Given the description of an element on the screen output the (x, y) to click on. 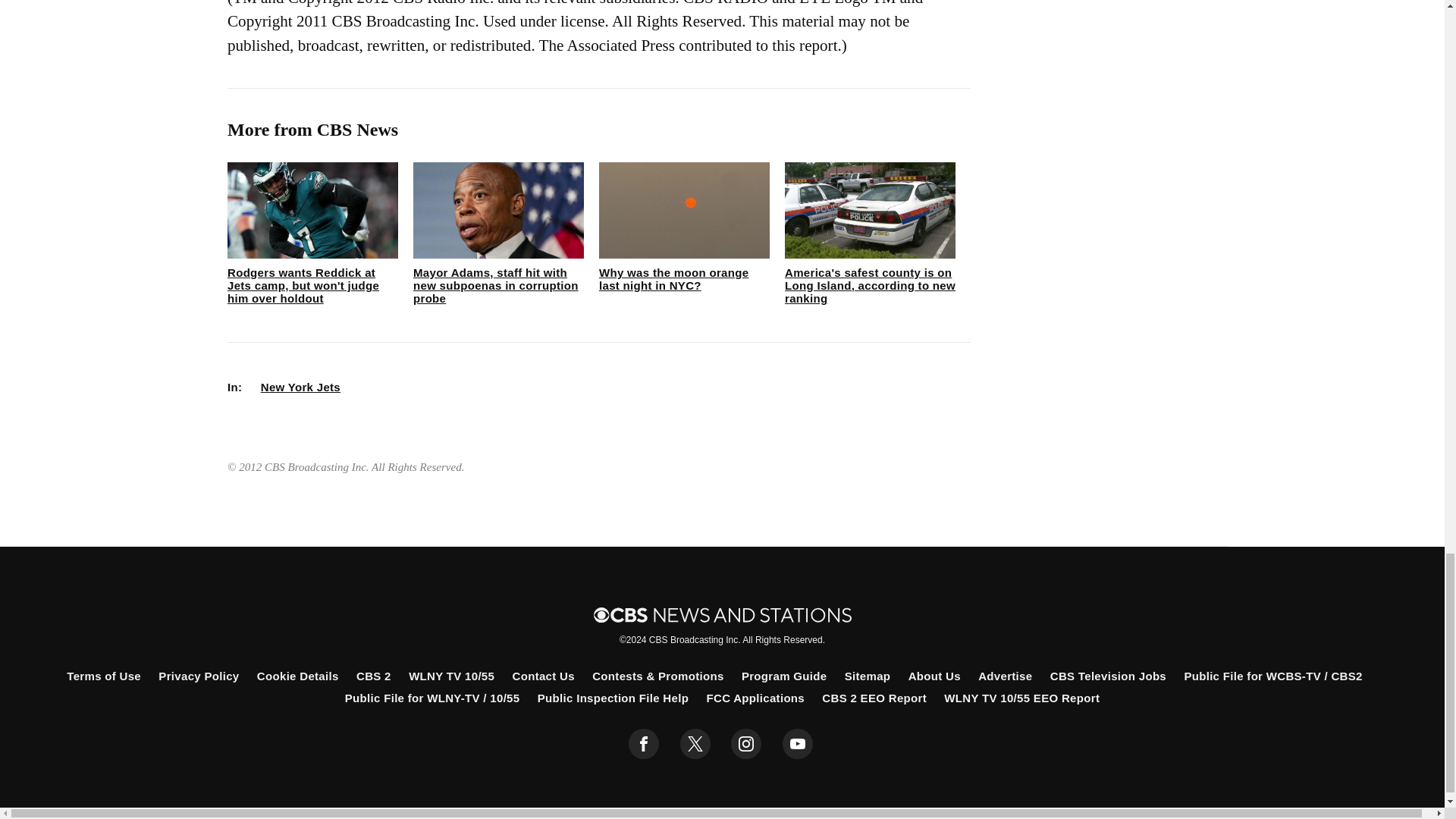
facebook (643, 743)
twitter (694, 743)
instagram (745, 743)
youtube (797, 743)
